Given the description of an element on the screen output the (x, y) to click on. 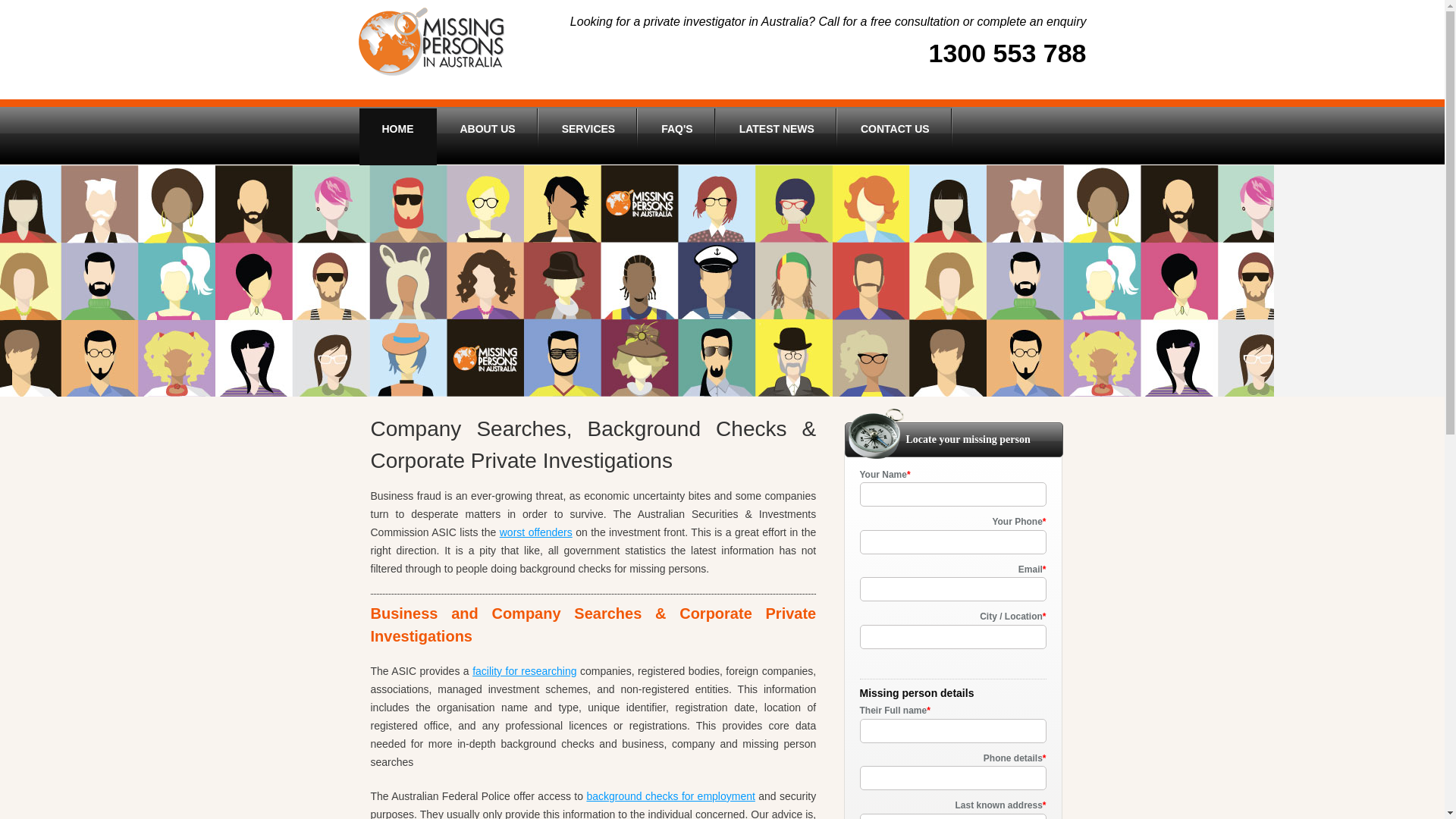
worst offenders Element type: text (535, 532)
ABOUT US Element type: text (486, 135)
Max field length is unknown Element type: hover (1210, 499)
Max field length is unknown Element type: hover (1210, 656)
Max field length is unknown Element type: hover (1210, 782)
CONTACT US Element type: text (894, 135)
facility for researching Element type: text (524, 671)
HOME Element type: text (397, 135)
FAQ'S Element type: text (676, 135)
Max field length is unknown Element type: hover (1210, 734)
SERVICES Element type: text (588, 135)
background checks for employment Element type: text (670, 796)
LATEST NEWS Element type: text (776, 135)
Max field length is unknown Element type: hover (1210, 545)
Max field length is unknown Element type: hover (1210, 593)
